Given the description of an element on the screen output the (x, y) to click on. 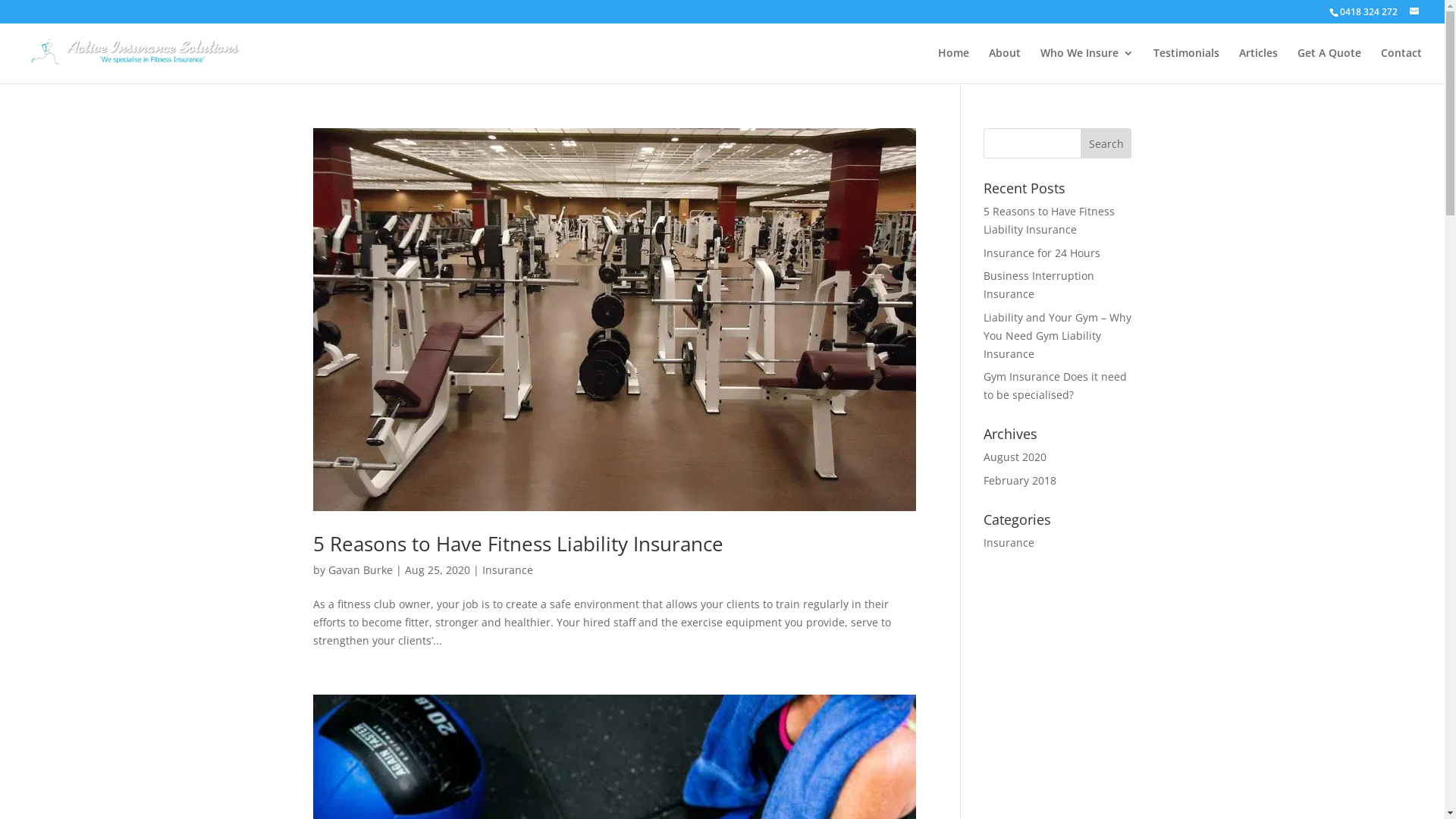
Articles Element type: text (1258, 65)
Gavan Burke Element type: text (359, 569)
Gym Insurance Does it need to be specialised? Element type: text (1054, 385)
Testimonials Element type: text (1186, 65)
Who We Insure Element type: text (1086, 65)
Contact Element type: text (1400, 65)
February 2018 Element type: text (1019, 480)
Home Element type: text (953, 65)
5 Reasons to Have Fitness Liability Insurance Element type: text (517, 543)
Search Element type: text (1106, 143)
Business Interruption Insurance Element type: text (1038, 284)
Insurance for 24 Hours Element type: text (1041, 252)
Insurance Element type: text (507, 569)
Insurance Element type: text (1008, 542)
Get A Quote Element type: text (1329, 65)
5 Reasons to Have Fitness Liability Insurance Element type: text (1048, 219)
August 2020 Element type: text (1014, 456)
About Element type: text (1004, 65)
